Given the description of an element on the screen output the (x, y) to click on. 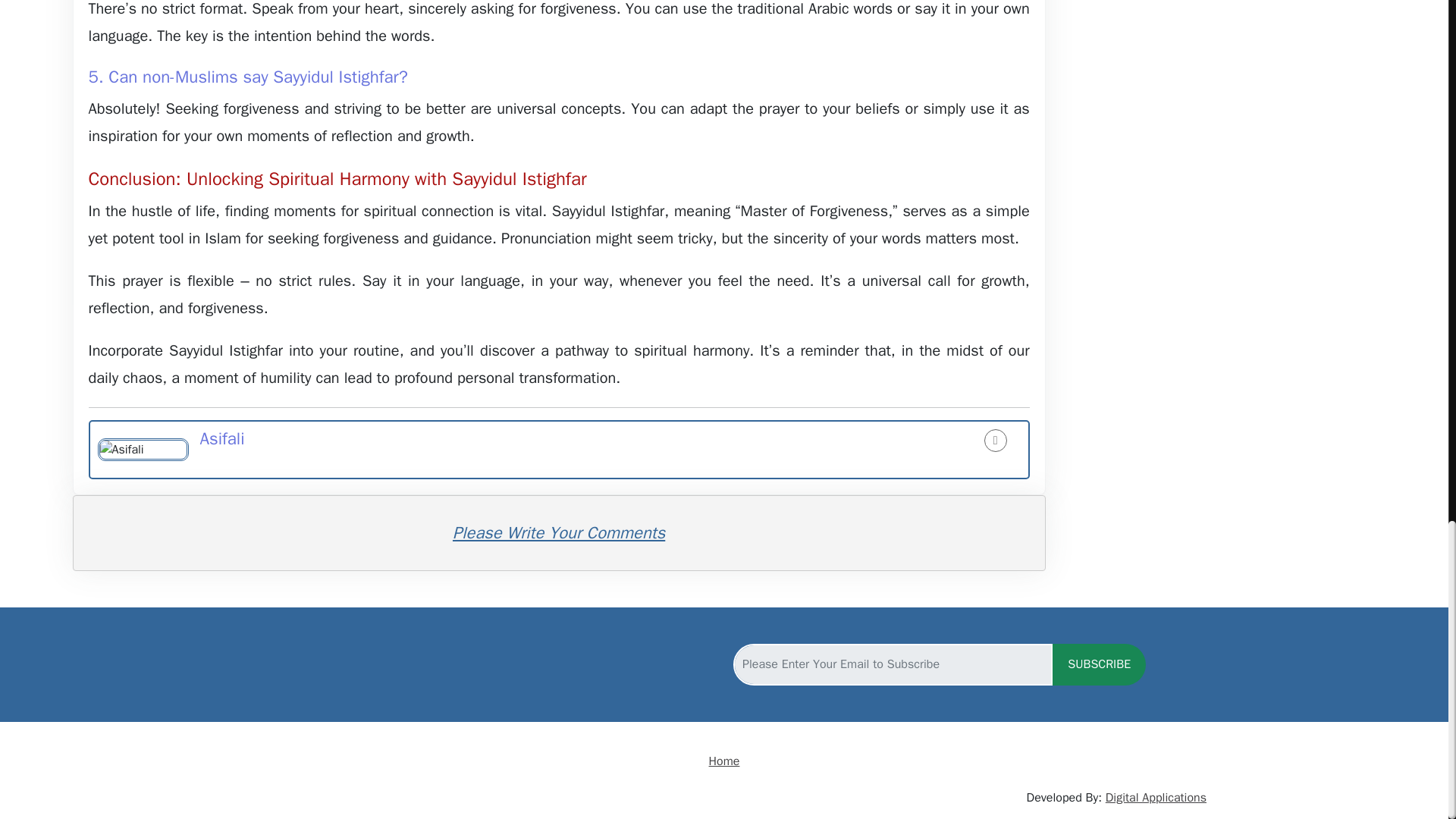
Home (724, 761)
Website URL (995, 439)
Digital Applications (1156, 797)
